Given the description of an element on the screen output the (x, y) to click on. 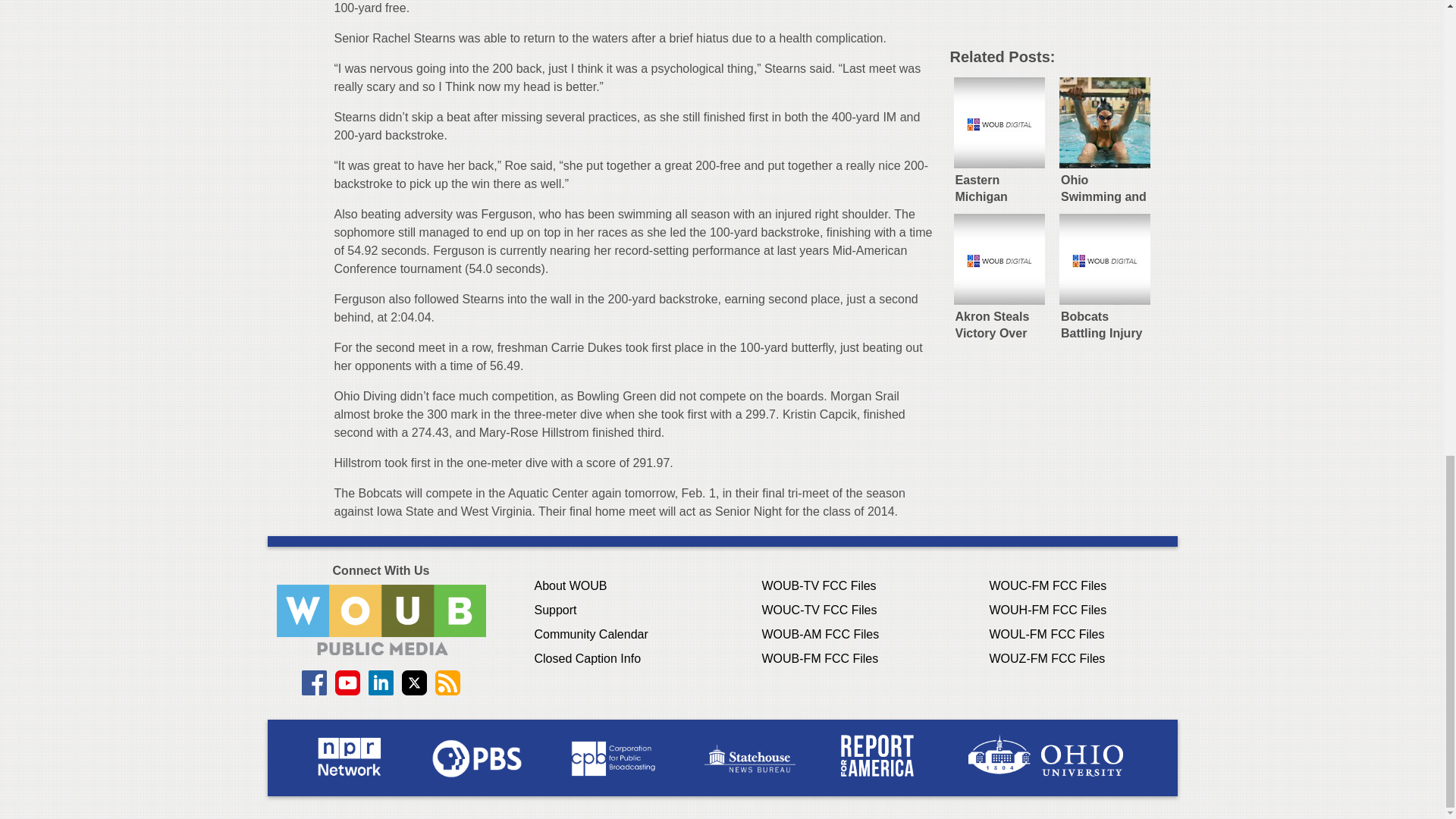
Akron Steals Victory Over Ohio In Final Events (998, 274)
Ohio Swimming and Diving Wins First Meet (1104, 137)
Bobcats Battling Injury Before Bowling Green Meet (1104, 274)
3rd party ad content (1062, 18)
